Given the description of an element on the screen output the (x, y) to click on. 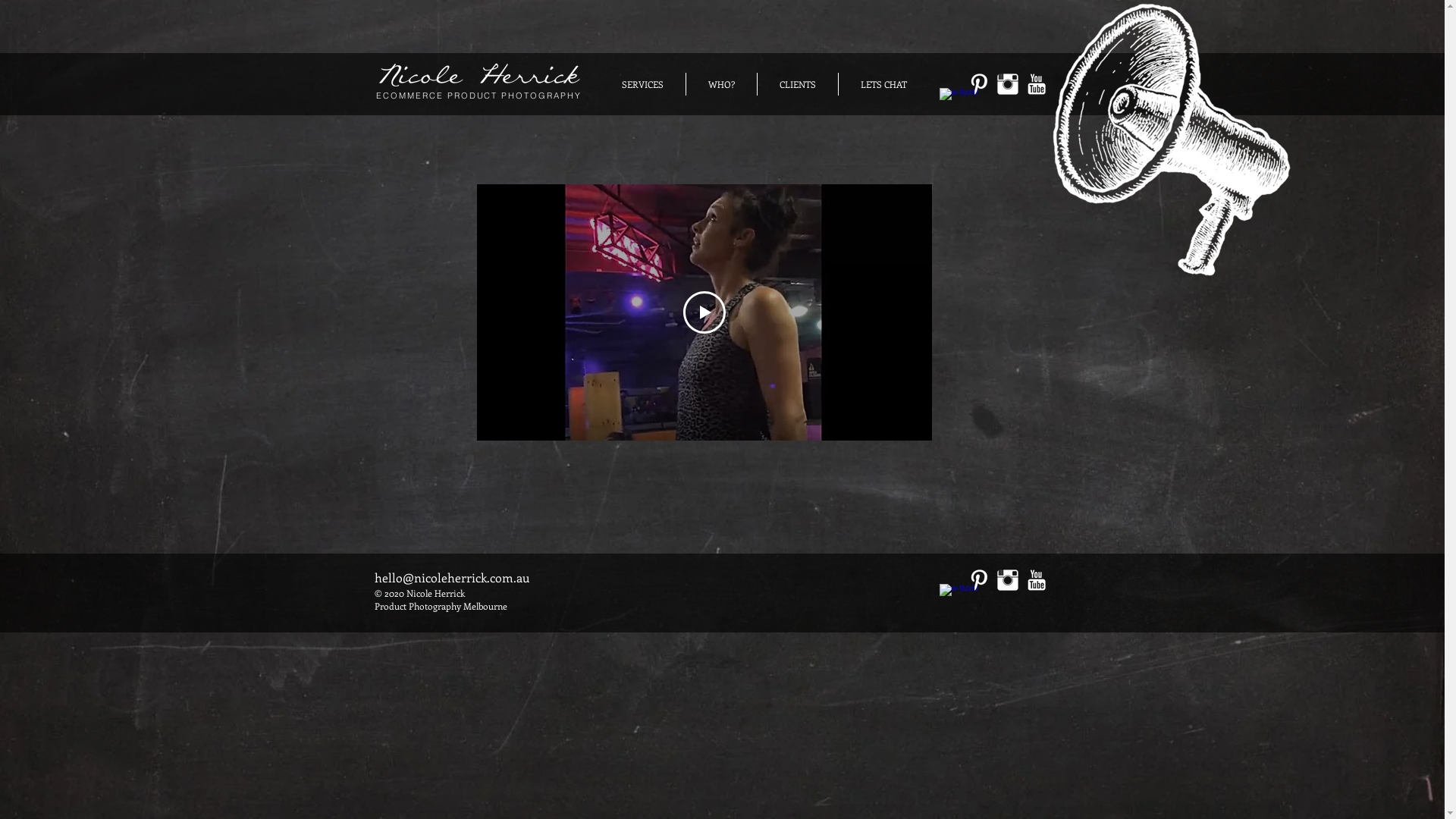
CLIENTS Element type: text (796, 83)
LETS CHAT Element type: text (883, 83)
Embedded Content Element type: hover (996, 18)
SERVICES Element type: text (641, 83)
Nicole-Herrick-Logo.png Element type: hover (476, 78)
ECOMMERCE PRODUCT PHOTOGRAPHY Element type: text (478, 95)
WHO? Element type: text (720, 83)
hello@nicoleherrick.com.au Element type: text (451, 577)
  Element type: text (507, 605)
Embedded Content Element type: hover (754, 600)
